Given the description of an element on the screen output the (x, y) to click on. 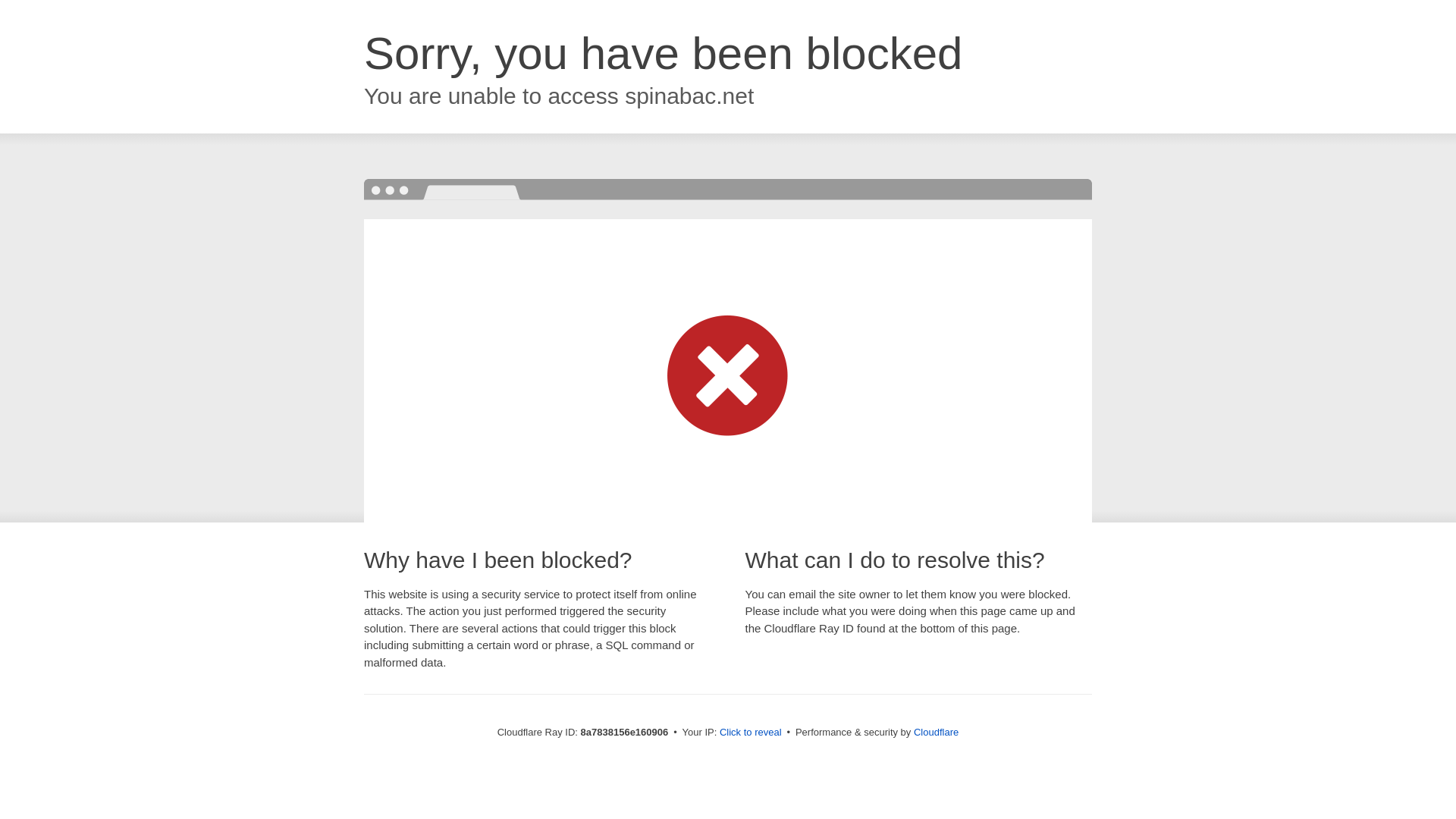
Cloudflare (936, 731)
Click to reveal (750, 732)
